Given the description of an element on the screen output the (x, y) to click on. 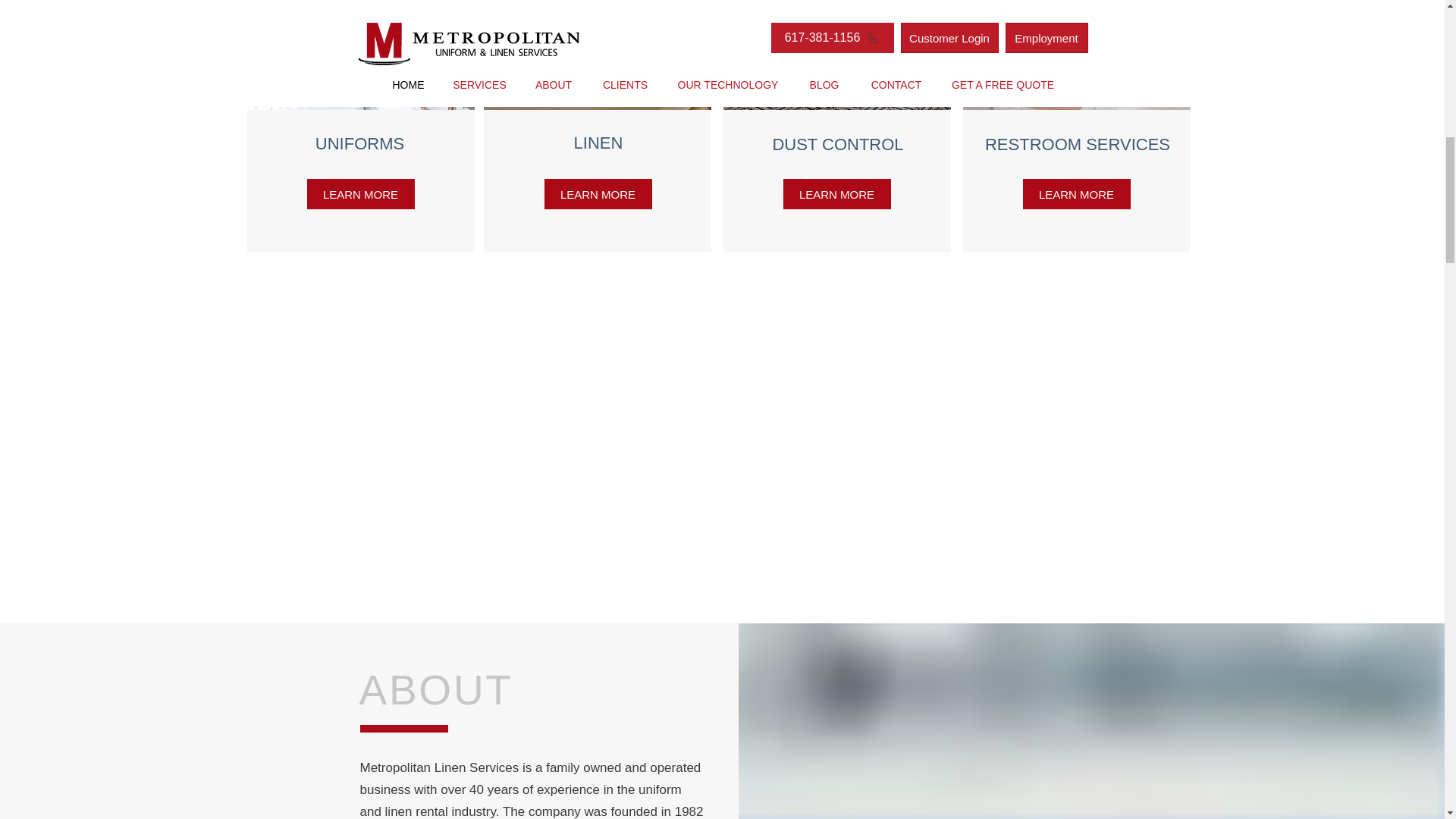
LEARN MORE (598, 194)
LEARN MORE (359, 194)
LEARN MORE (836, 194)
LEARN MORE (1075, 194)
